Given the description of an element on the screen output the (x, y) to click on. 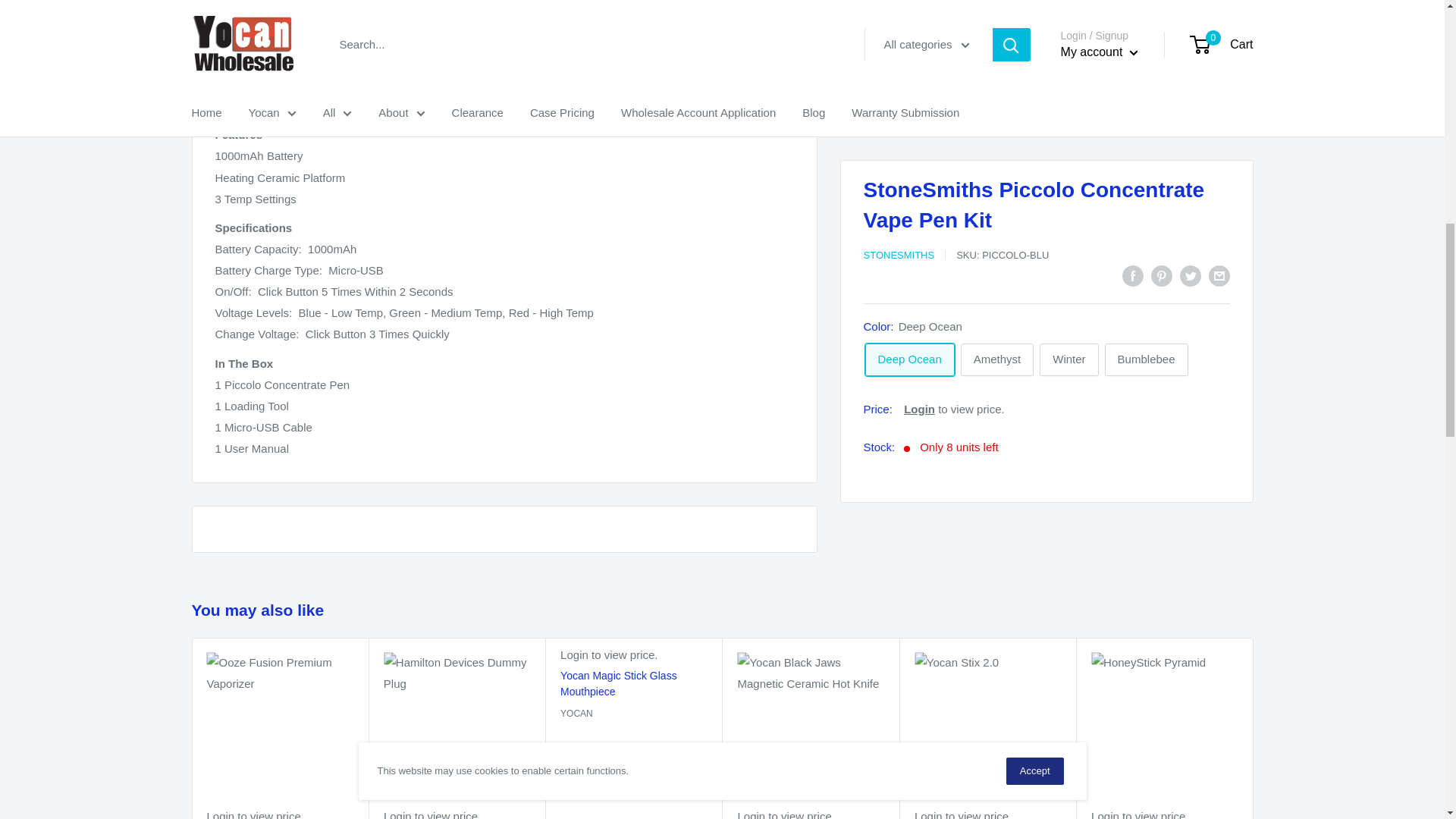
StoneSmiths Piccolo Replacement Chamber 2-Pack (299, 105)
